Given the description of an element on the screen output the (x, y) to click on. 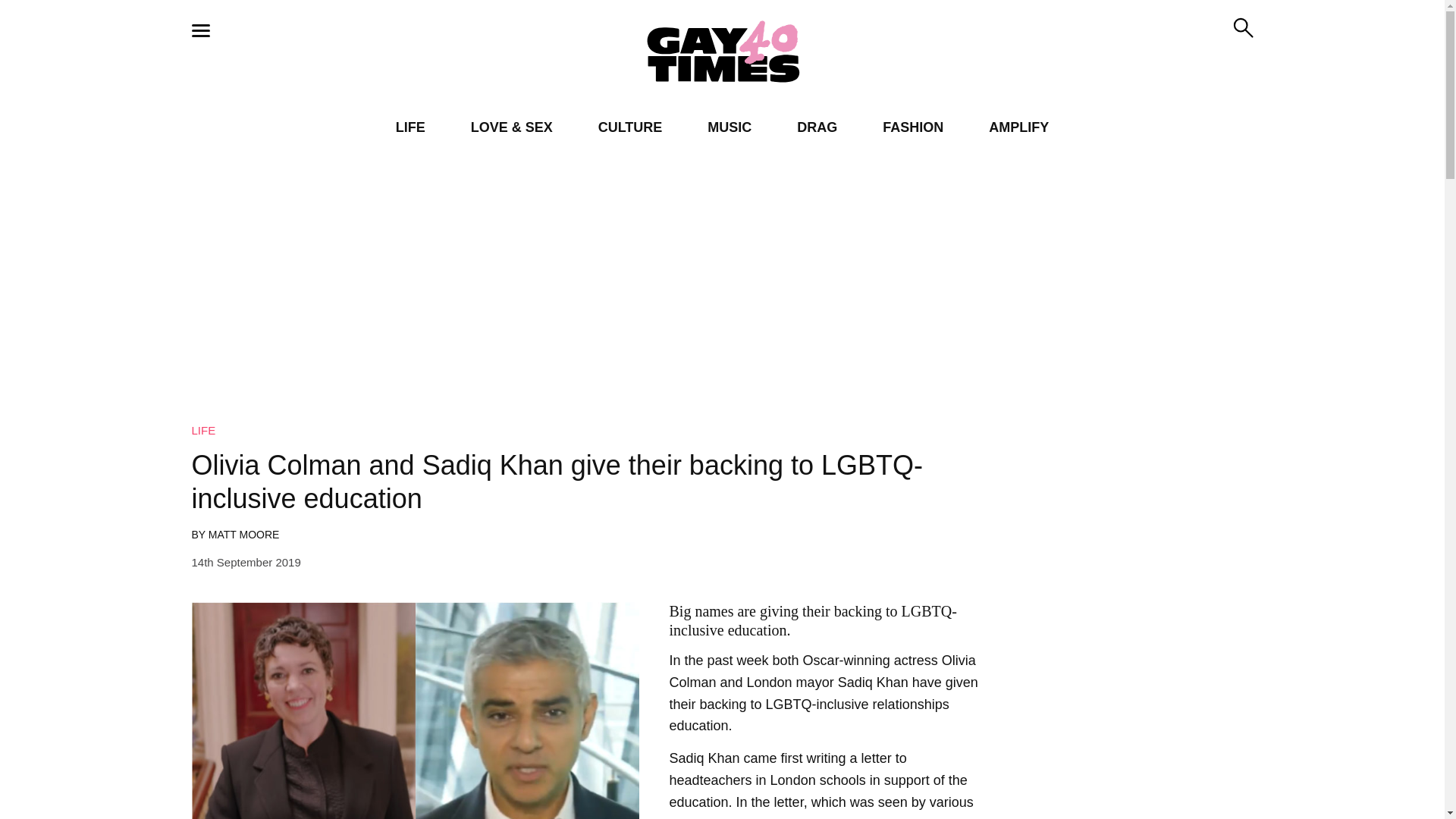
FASHION (912, 127)
MATT MOORE (243, 534)
DRAG (816, 127)
AMPLIFY (1018, 127)
LIFE (202, 430)
LIFE (410, 127)
MUSIC (729, 127)
CULTURE (630, 127)
